Given the description of an element on the screen output the (x, y) to click on. 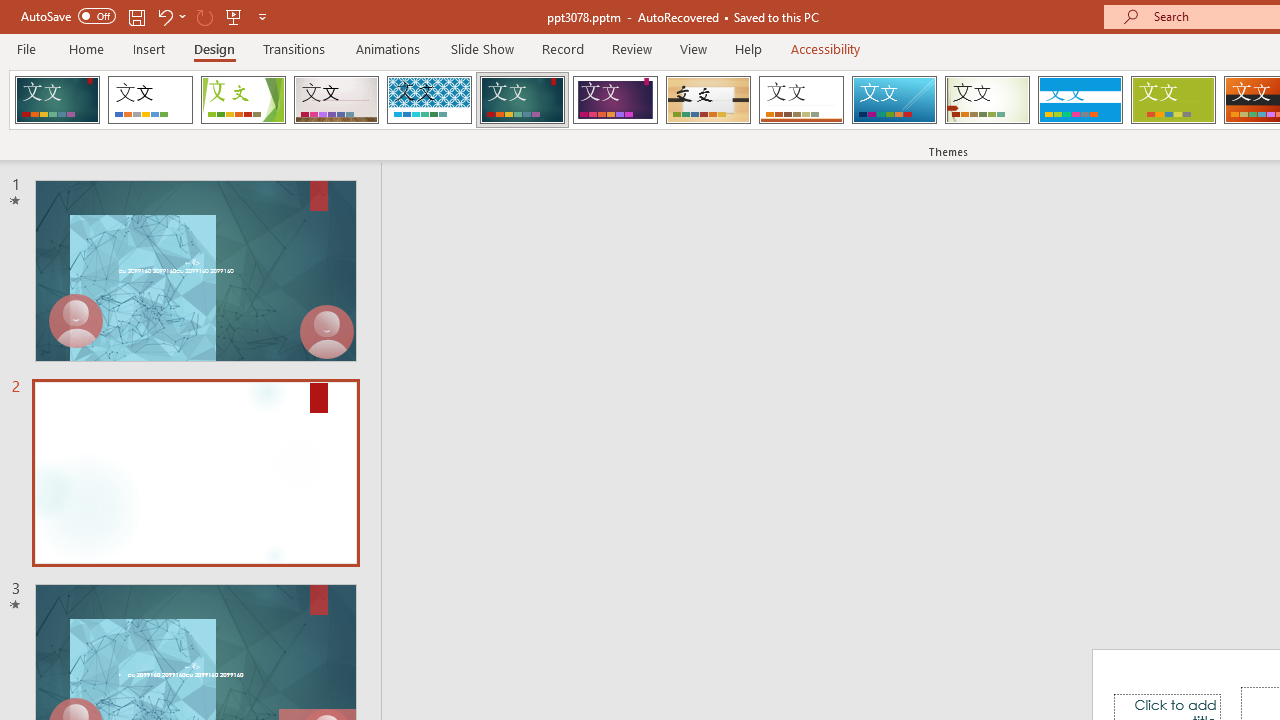
Wisp (987, 100)
Integral (429, 100)
Gallery (336, 100)
Ion Boardroom (615, 100)
Dividend (57, 100)
Organic (708, 100)
